Given the description of an element on the screen output the (x, y) to click on. 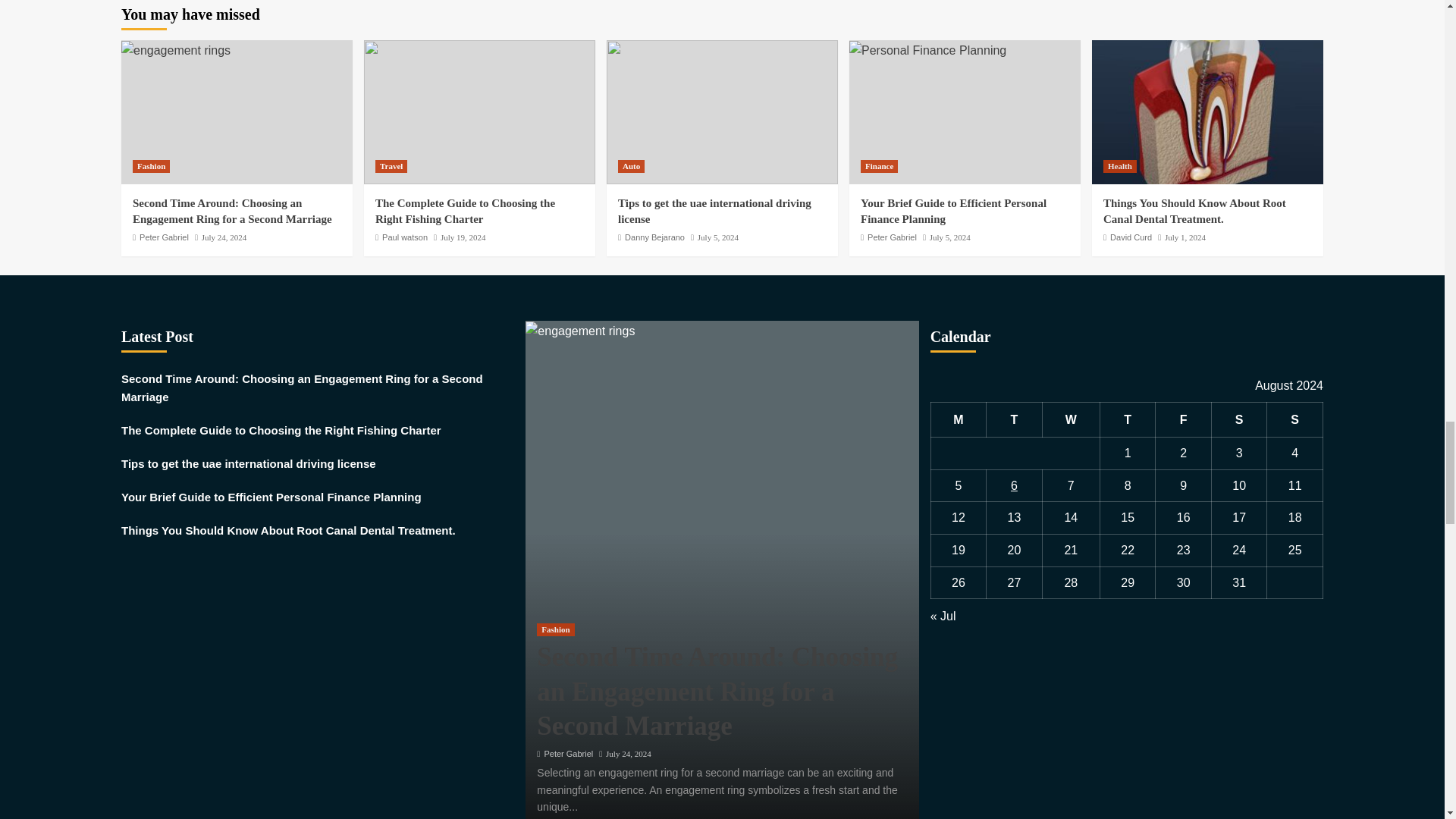
Sunday (1294, 419)
Tuesday (1014, 419)
Wednesday (1070, 419)
Thursday (1127, 419)
Monday (958, 419)
Saturday (1238, 419)
Friday (1183, 419)
